Given the description of an element on the screen output the (x, y) to click on. 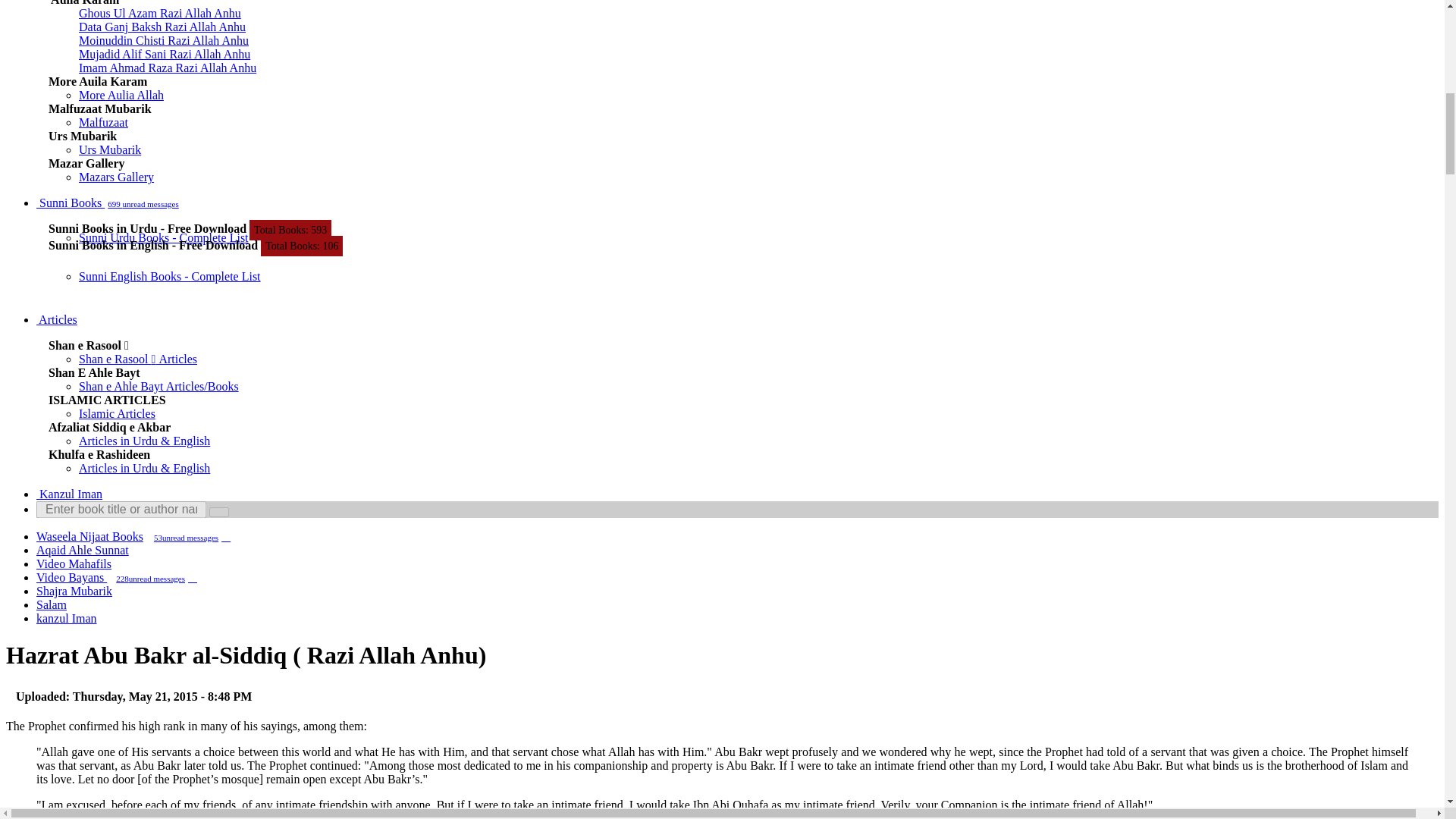
Mazars Gallery (116, 176)
Malfuzaat (103, 122)
Moinuddin Chisti Razi Allah Anhu (163, 40)
Data Ganj Baksh Razi Allah Anhu (162, 26)
Imam Ahmad Raza Razi Allah Anhu (167, 67)
 Sunni Books 699 unread messages (109, 202)
Sunni Urdu Books - Complete List (163, 237)
 Articles (56, 318)
More Aulia Allah (120, 94)
Urs Mubarik (109, 149)
Sunni English Books - Complete List (169, 276)
Ghous Ul Azam Razi Allah Anhu (159, 12)
Mujadid Alif Sani Razi Allah Anhu (164, 53)
